Given the description of an element on the screen output the (x, y) to click on. 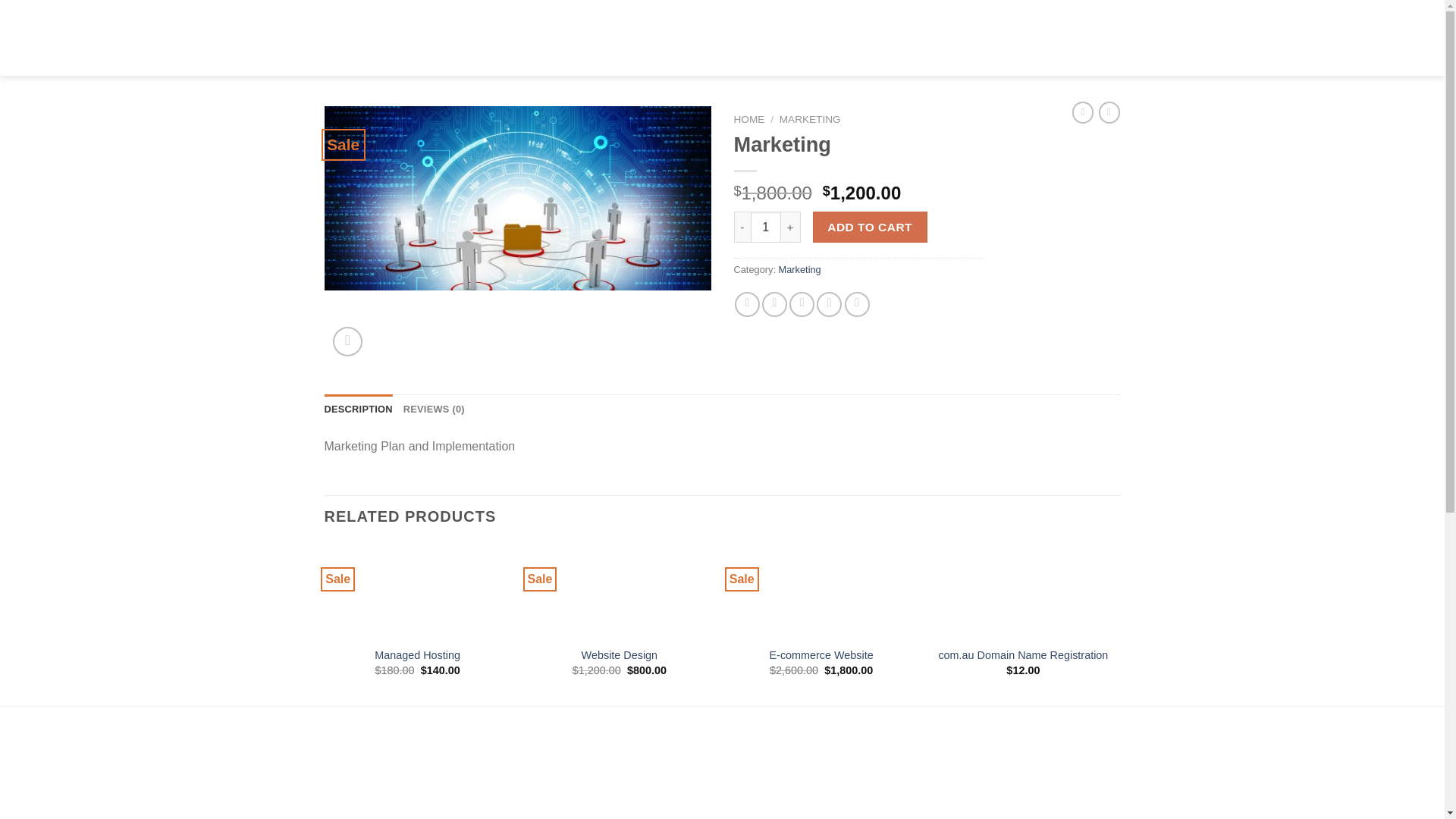
ADD BUSINESS (997, 37)
Zoom (347, 341)
HOME (749, 119)
Managed Hosting (417, 655)
Brisbane Real Estate (436, 38)
MARKETING (809, 119)
Share on Twitter (774, 303)
WEB SERVICES (885, 37)
Share on Facebook (747, 303)
Share on LinkedIn (856, 303)
DESCRIPTION (358, 409)
1 (765, 226)
BRISBANE DIRECTORY (750, 37)
Pin on Pinterest (828, 303)
Email to a Friend (801, 303)
